Given the description of an element on the screen output the (x, y) to click on. 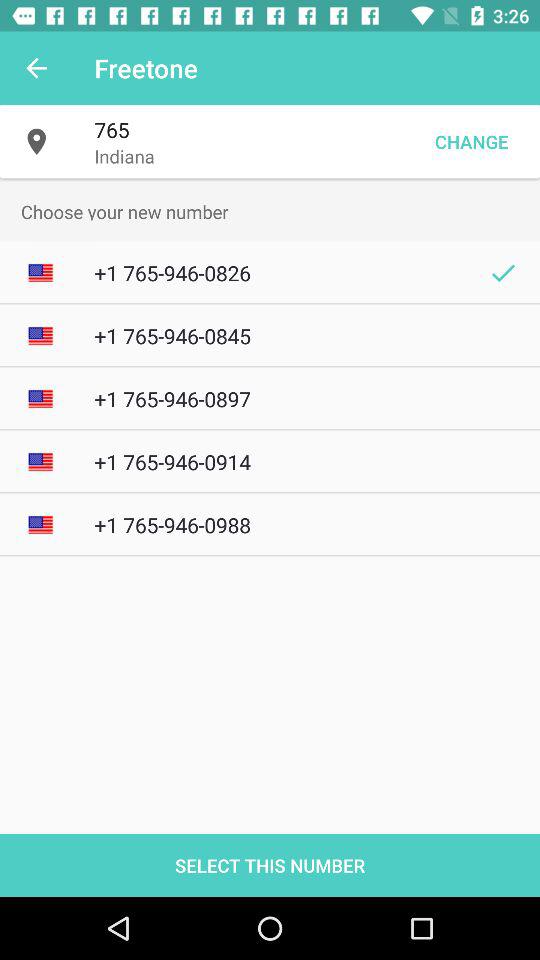
jump until the select this number item (270, 864)
